Given the description of an element on the screen output the (x, y) to click on. 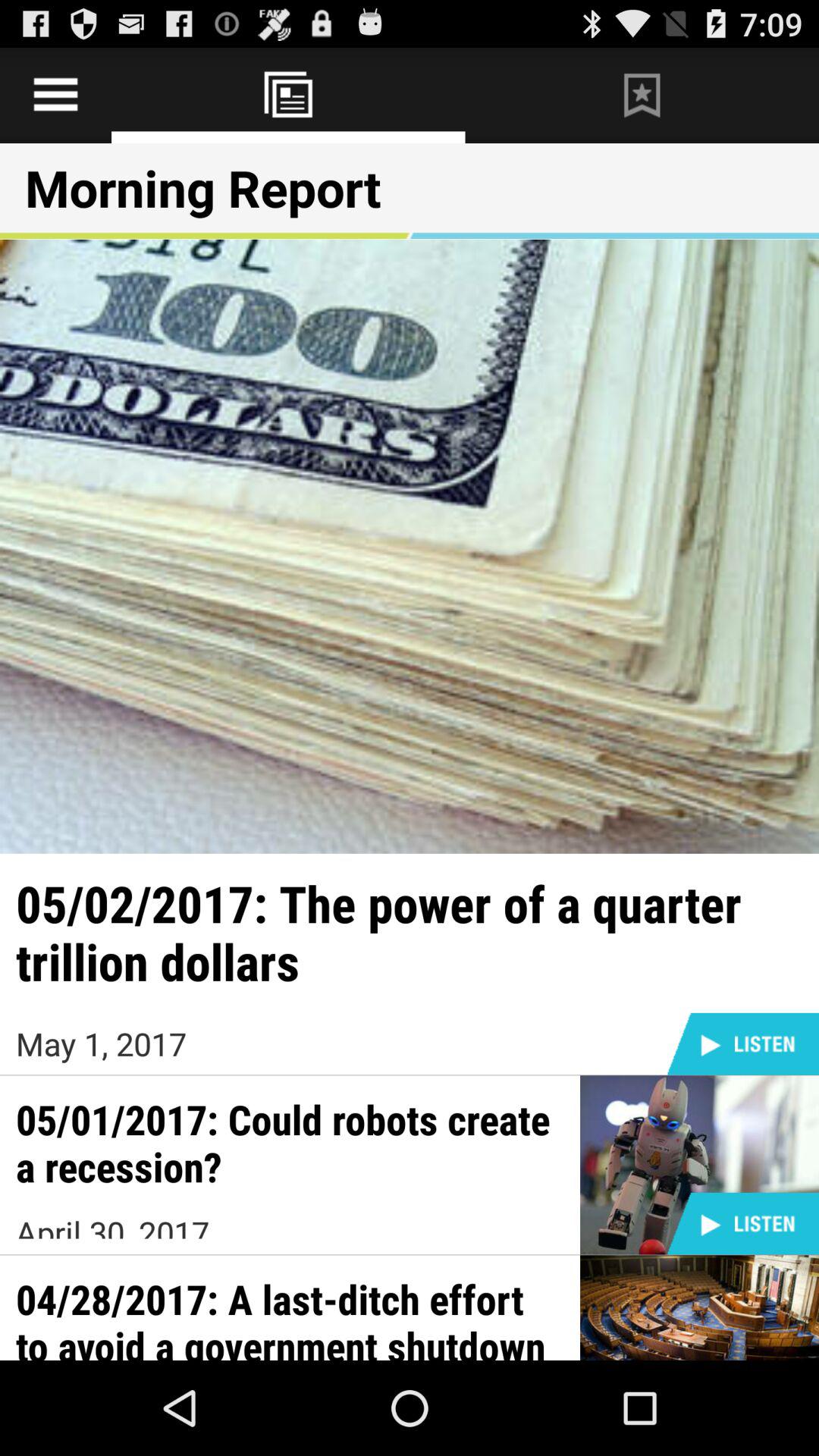
go to news (288, 95)
